Given the description of an element on the screen output the (x, y) to click on. 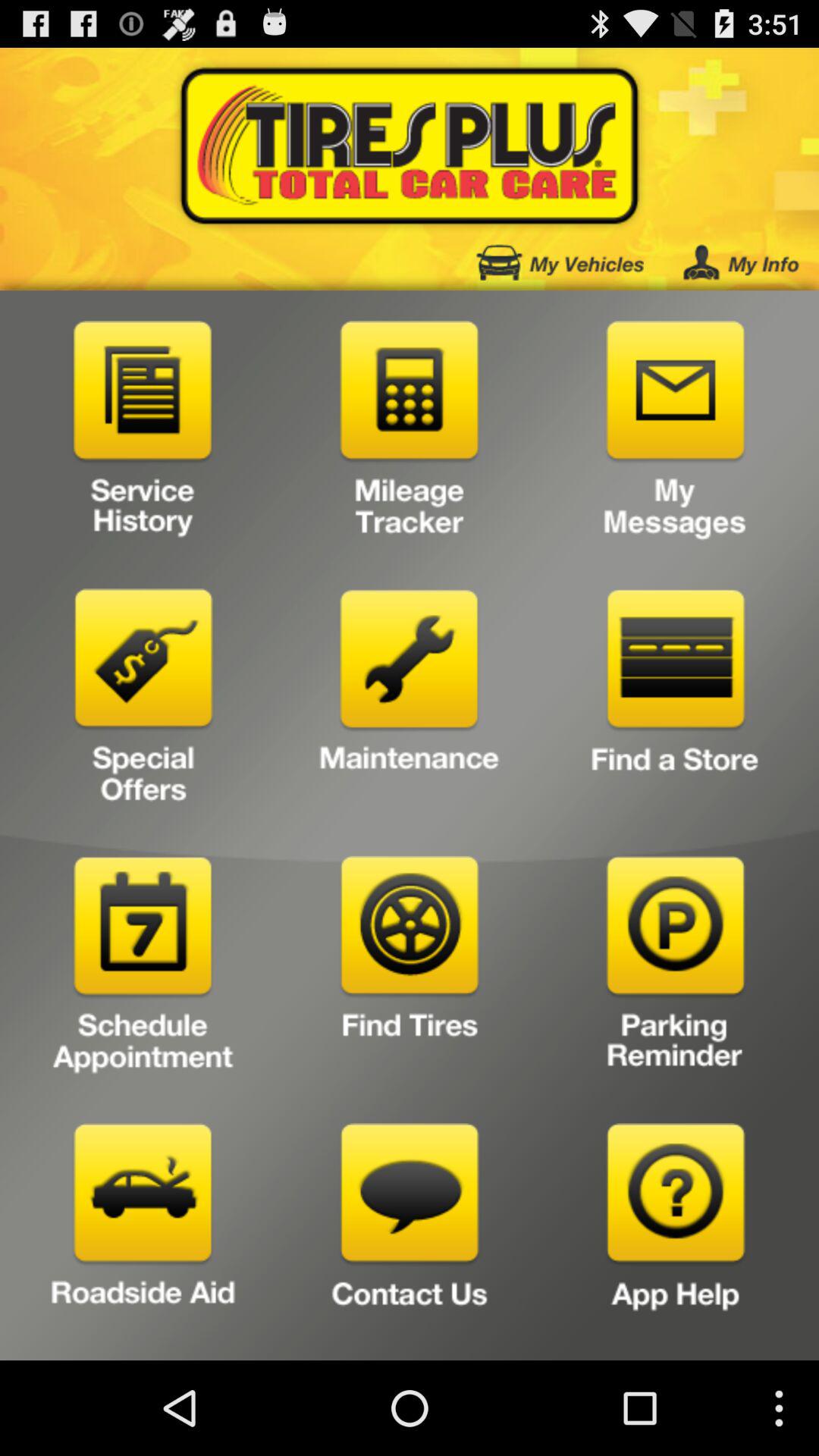
read messages (675, 434)
